Given the description of an element on the screen output the (x, y) to click on. 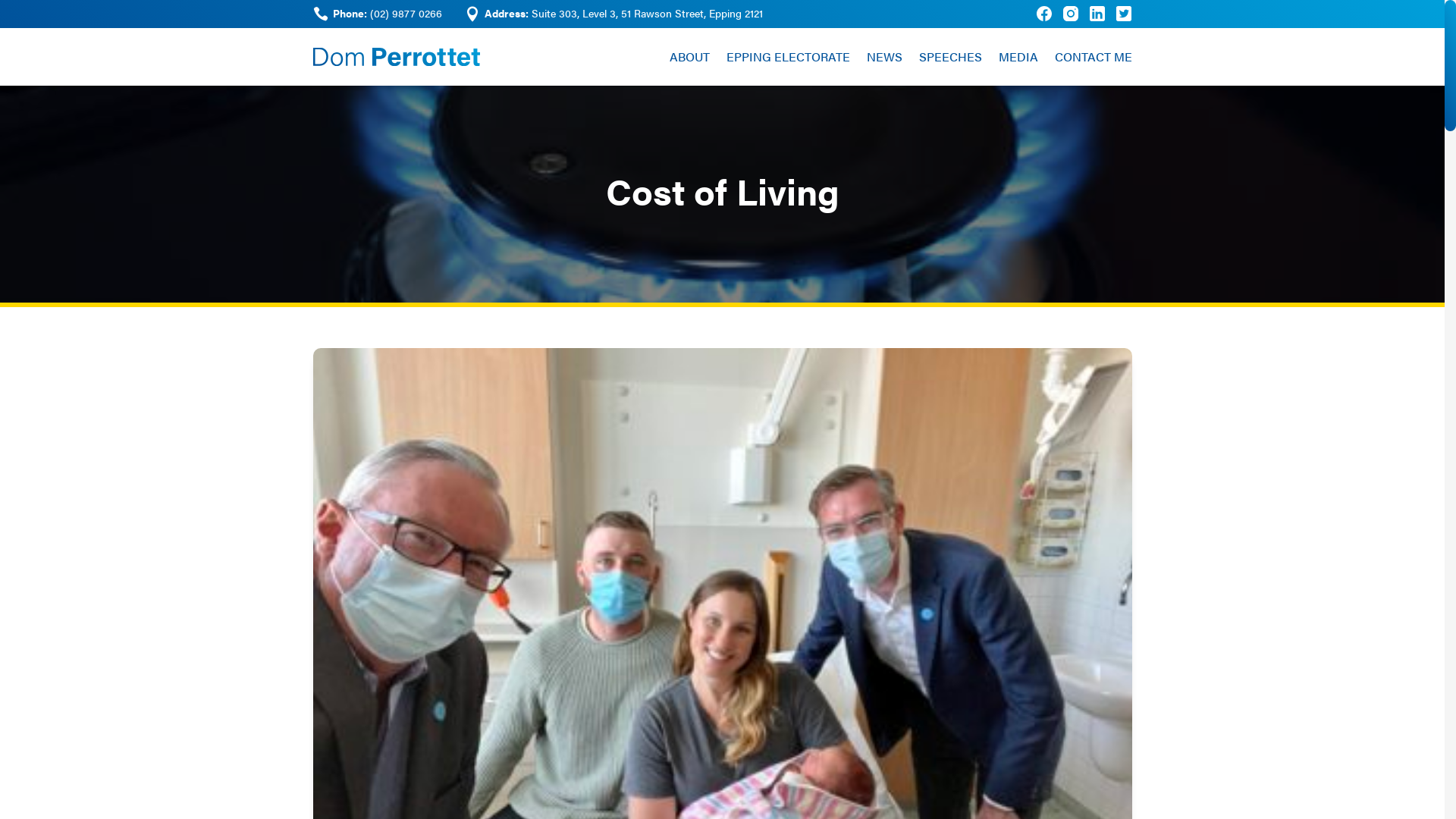
NEWS Element type: text (883, 56)
EPPING ELECTORATE Element type: text (788, 56)
ABOUT Element type: text (688, 56)
CONTACT ME Element type: text (1092, 56)
SPEECHES Element type: text (950, 56)
MEDIA Element type: text (1017, 56)
